Given the description of an element on the screen output the (x, y) to click on. 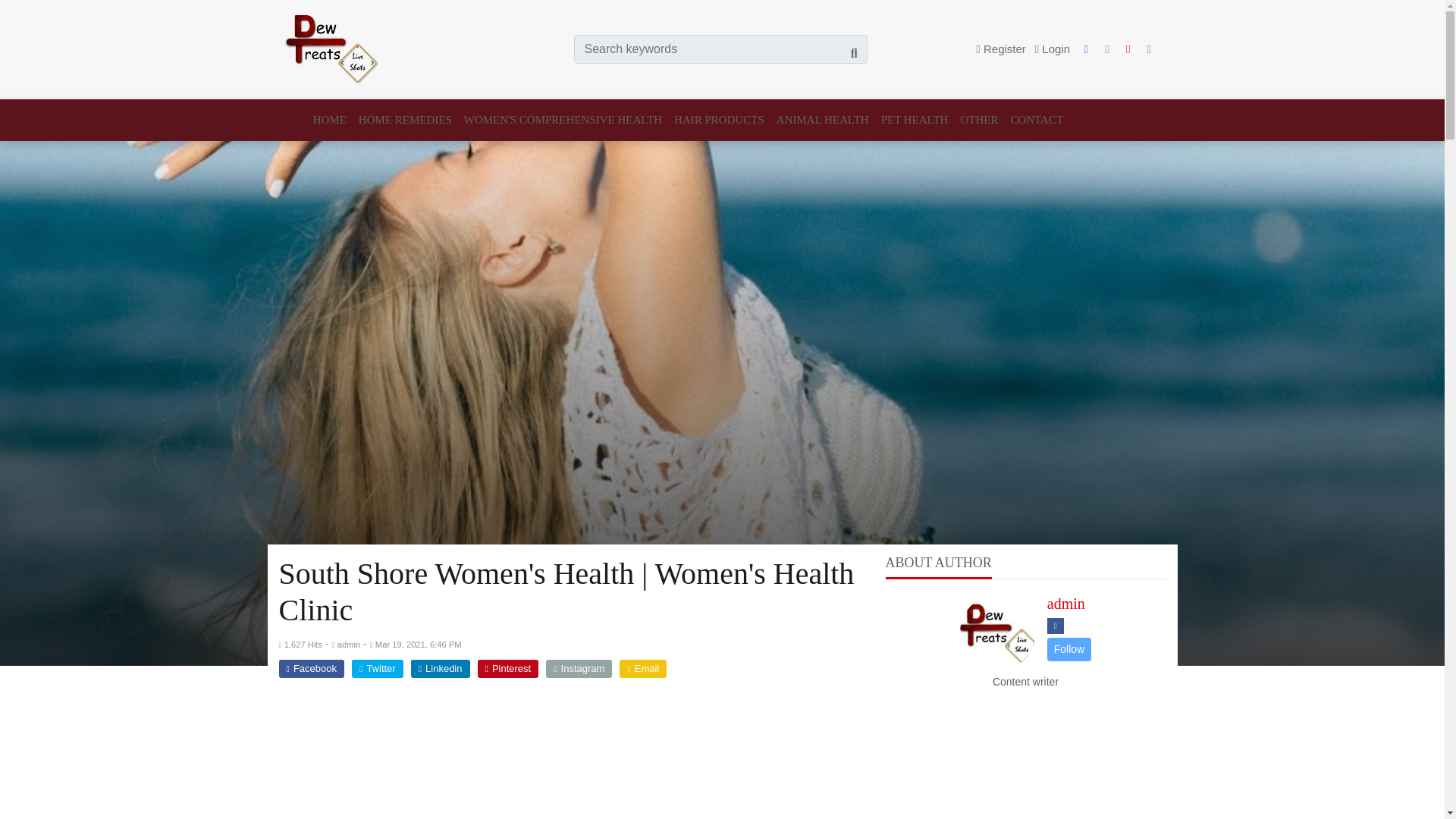
HAIR PRODUCTS (719, 120)
ANIMAL HEALTH (822, 120)
PET HEALTH (915, 120)
OTHER (978, 120)
Login (1052, 49)
Instagram (578, 669)
Register (1000, 49)
Follow (1068, 648)
Linkedin (440, 669)
HOME (332, 120)
